Given the description of an element on the screen output the (x, y) to click on. 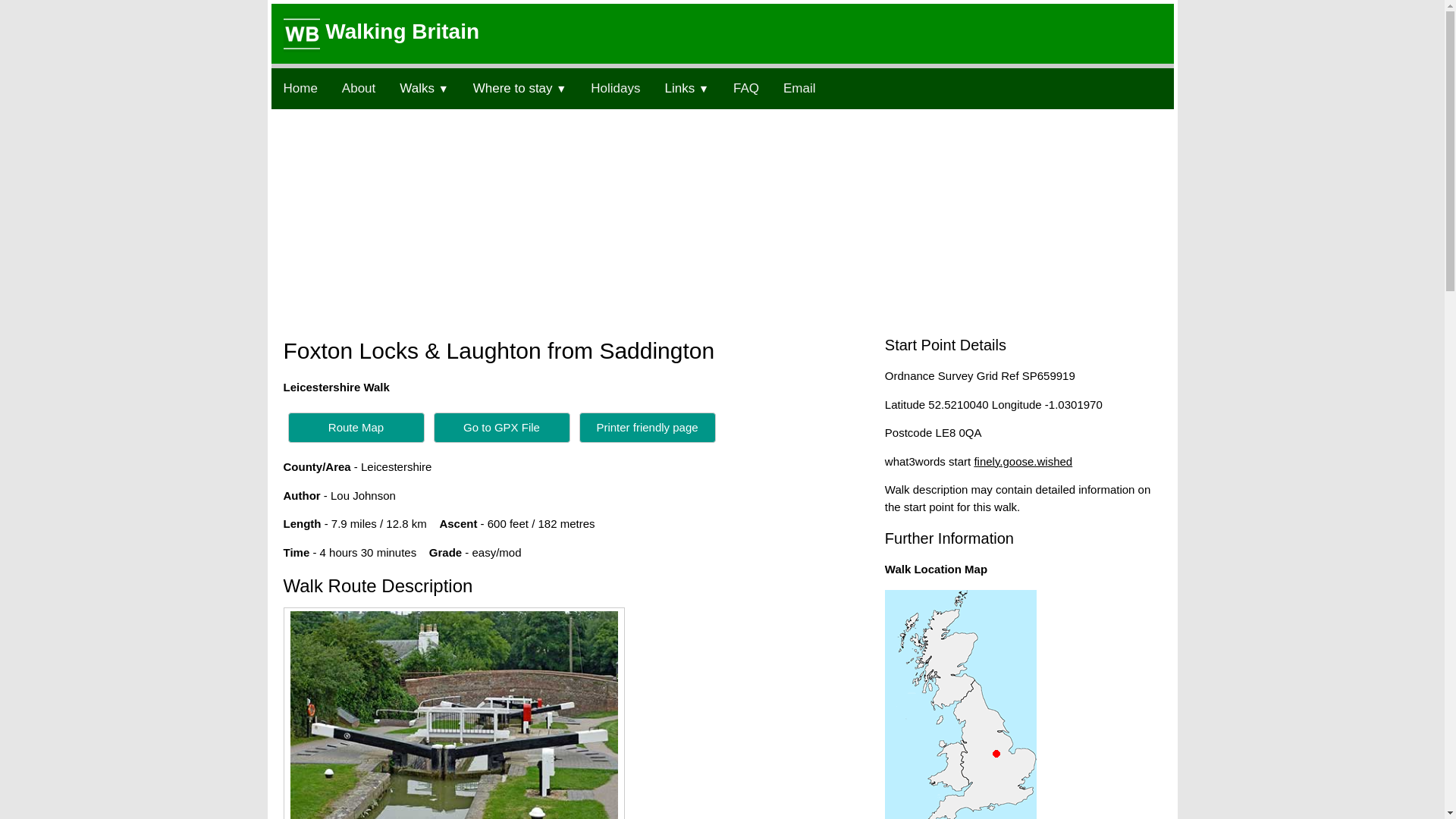
Route Map (356, 427)
About (358, 87)
Go to GPX File (502, 426)
Printer friendly page (647, 427)
Printer friendly page (647, 426)
Home (300, 87)
Go to GPX File (501, 427)
Route Map (356, 426)
FAQ (745, 87)
Email (799, 87)
Holidays (615, 87)
